Given the description of an element on the screen output the (x, y) to click on. 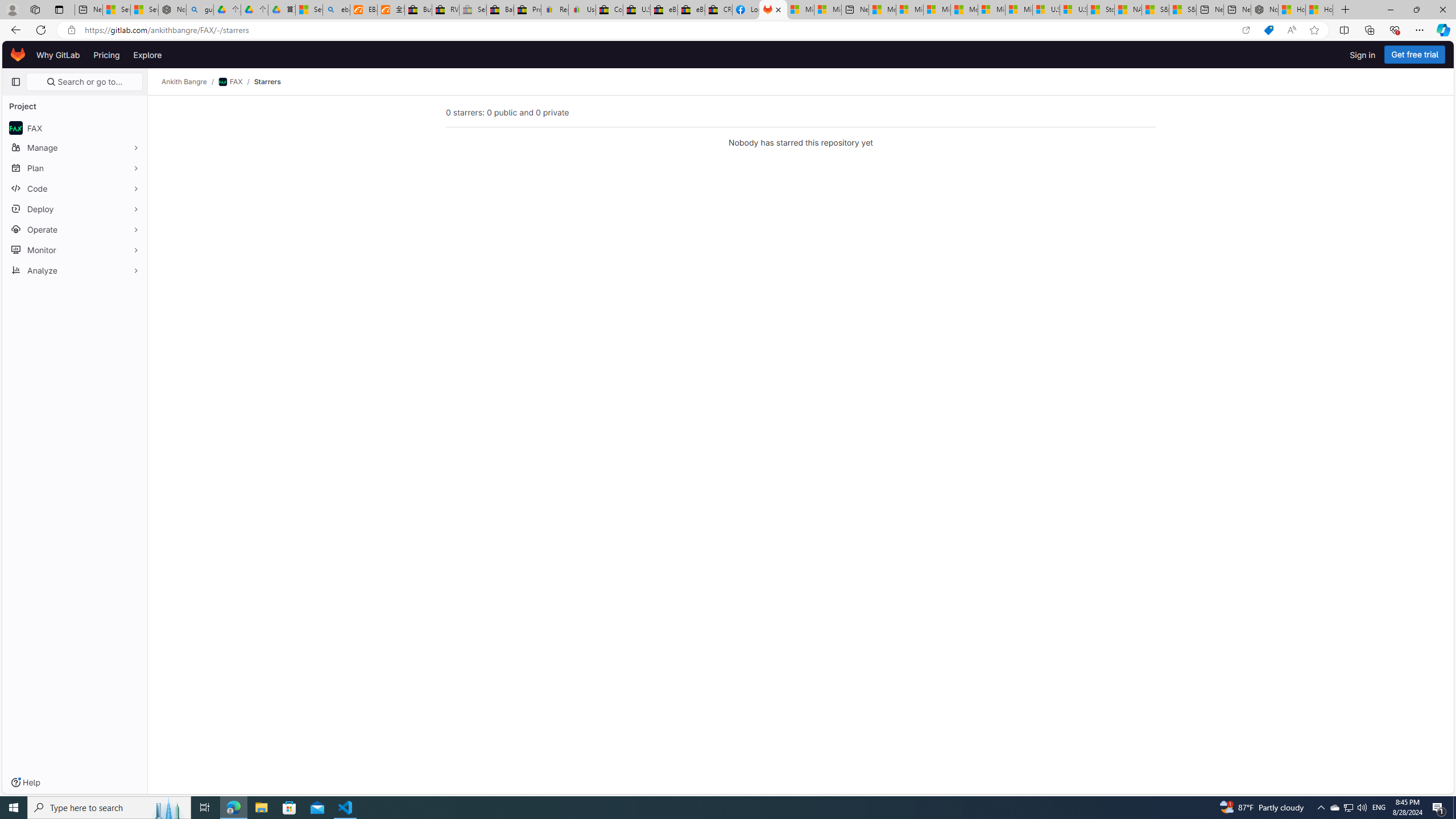
Press Room - eBay Inc. (527, 9)
View site information (70, 29)
Analyze (74, 270)
Sign in (1362, 54)
Monitor (74, 249)
Split screen (1344, 29)
Add this page to favorites (Ctrl+D) (1314, 29)
Settings and more (Alt+F) (1419, 29)
Browser essentials (1394, 29)
Pricing (106, 54)
Ankith Bangre (183, 81)
FAX (230, 81)
Get free trial (1414, 54)
Register: Create a personal eBay account (554, 9)
Refresh (40, 29)
